Given the description of an element on the screen output the (x, y) to click on. 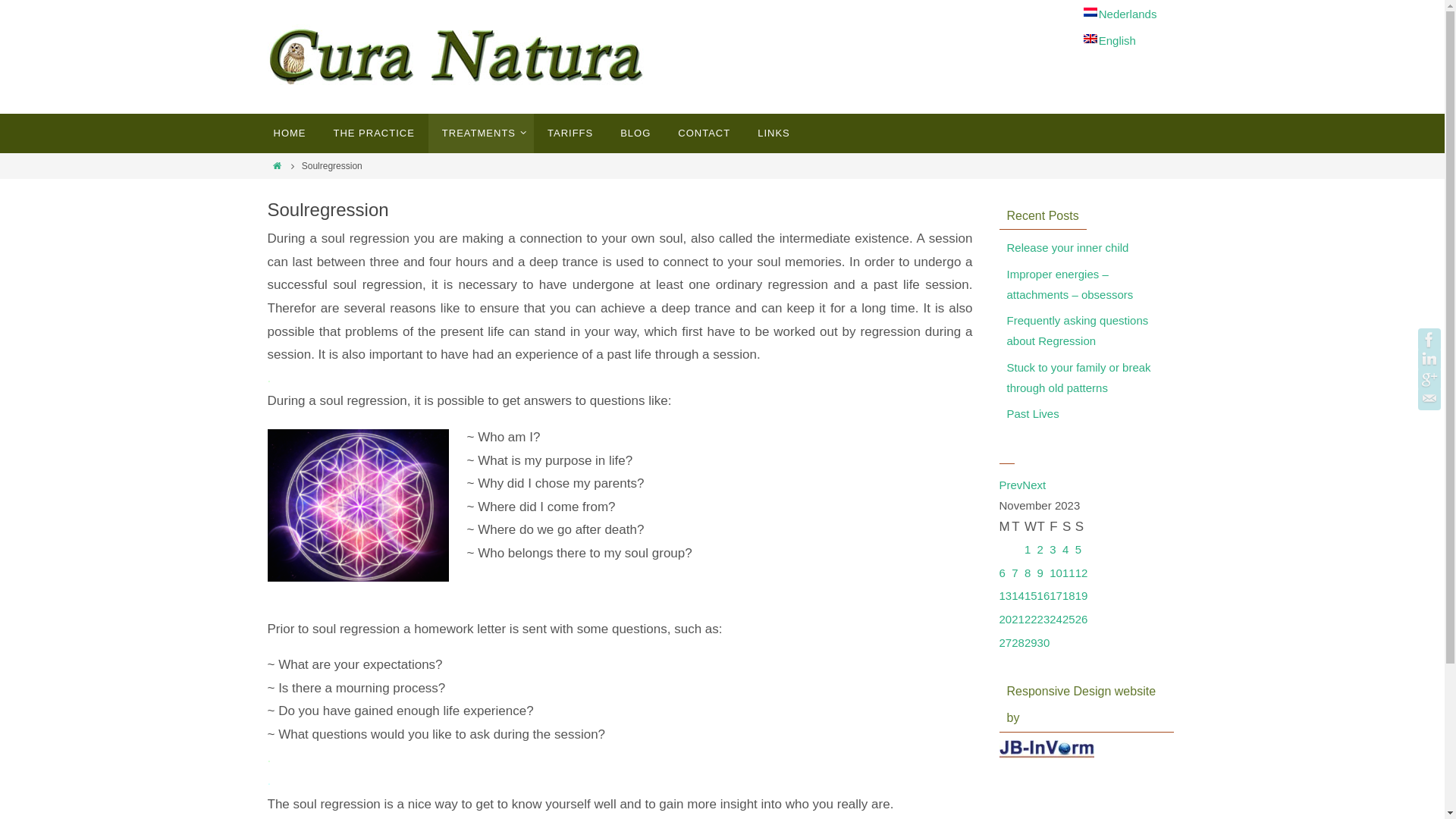
7 Element type: text (1014, 573)
8 Element type: text (1027, 573)
Cura Natura op Facebook Element type: hover (1429, 339)
THE PRACTICE Element type: text (374, 133)
Nederlands Element type: text (1120, 14)
TARIFFS Element type: text (569, 133)
1 Element type: text (1027, 549)
LINKS Element type: text (773, 133)
Release your inner child Element type: text (1068, 247)
29 Element type: text (1030, 642)
26 Element type: text (1081, 619)
E-mail Element type: hover (1429, 398)
19 Element type: text (1081, 595)
Responsive Design website by Element type: hover (1046, 754)
Marjolein op LinkedIn Element type: hover (1429, 359)
28 Element type: text (1017, 642)
23 Element type: text (1043, 619)
30 Element type: text (1043, 642)
English Element type: text (1109, 40)
21 Element type: text (1017, 619)
Next Element type: text (1033, 485)
2 Element type: text (1040, 549)
CONTACT Element type: text (703, 133)
10 Element type: text (1055, 573)
15 Element type: text (1030, 595)
Past Lives Element type: text (1033, 413)
14 Element type: text (1017, 595)
6 Element type: text (1002, 573)
12 Element type: text (1081, 573)
Stuck to your family or break through old patterns Element type: text (1079, 377)
24 Element type: text (1055, 619)
20 Element type: text (1005, 619)
5 Element type: text (1078, 549)
4 Element type: text (1065, 549)
TREATMENTS Element type: text (480, 133)
27 Element type: text (1005, 642)
Prev Element type: text (1010, 485)
13 Element type: text (1005, 595)
16 Element type: text (1043, 595)
9 Element type: text (1040, 573)
GooglePlus Element type: hover (1429, 378)
22 Element type: text (1030, 619)
BLOG Element type: text (635, 133)
3 Element type: text (1052, 549)
HOME Element type: text (289, 133)
Frequently asking questions about Regression Element type: text (1077, 330)
17 Element type: text (1055, 595)
18 Element type: text (1068, 595)
25 Element type: text (1068, 619)
11 Element type: text (1068, 573)
